Given the description of an element on the screen output the (x, y) to click on. 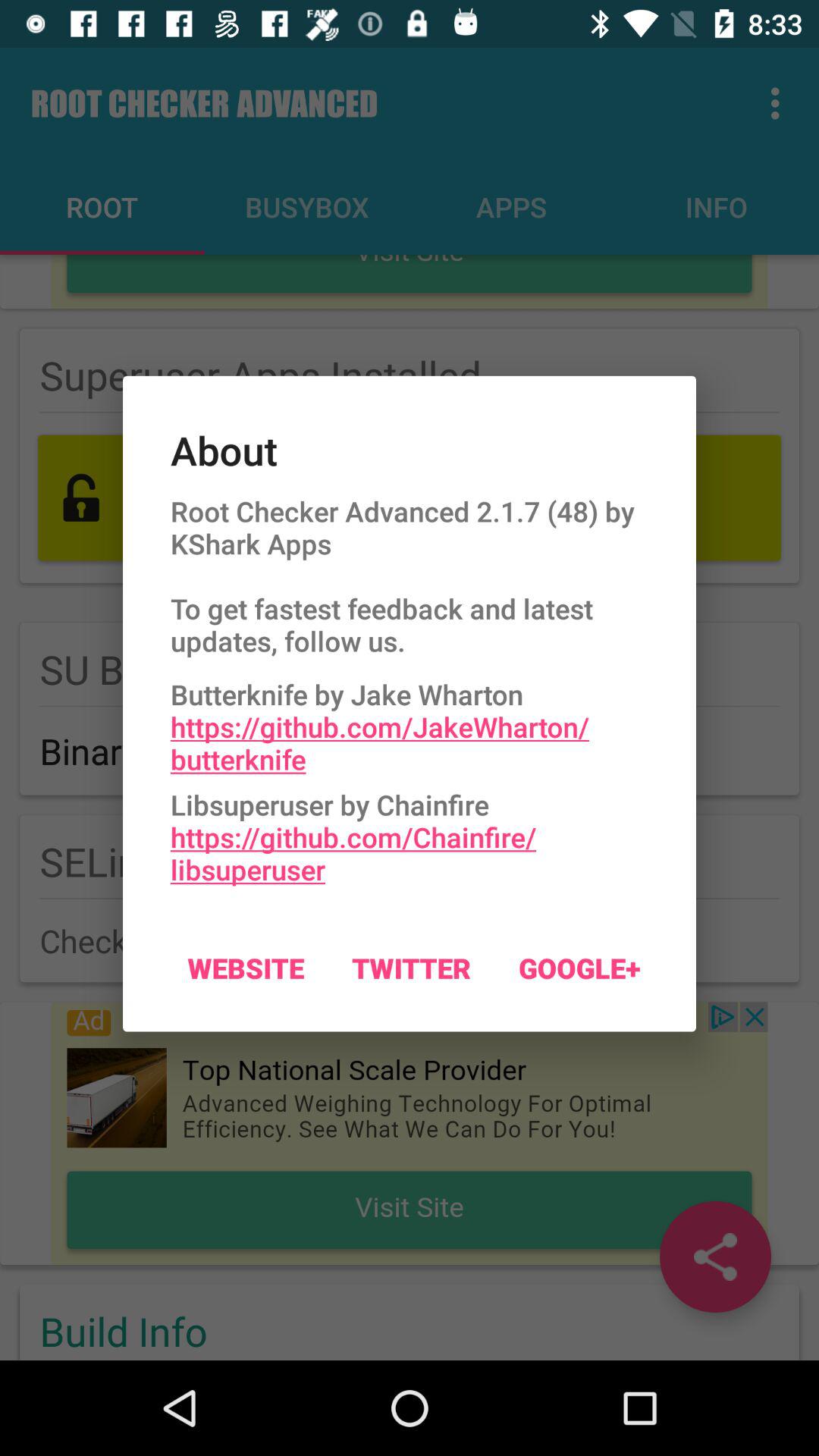
select the item to the left of twitter icon (245, 967)
